Given the description of an element on the screen output the (x, y) to click on. 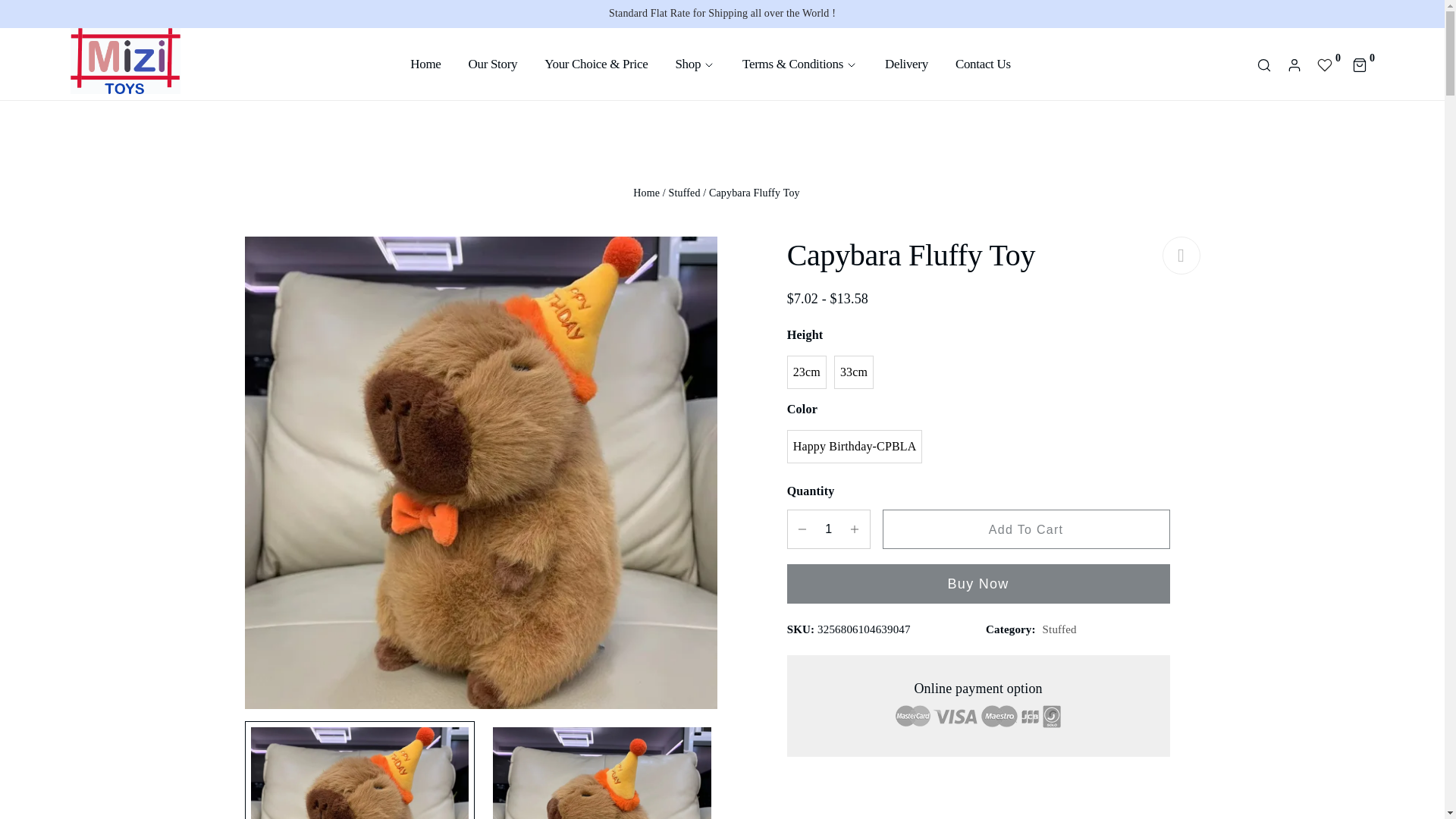
1 (828, 529)
33cm (853, 372)
Qty (828, 529)
Home (425, 64)
23cm (807, 372)
Shop (695, 64)
Our Story (492, 64)
Happy Birthday-CPBLA (855, 446)
